Given the description of an element on the screen output the (x, y) to click on. 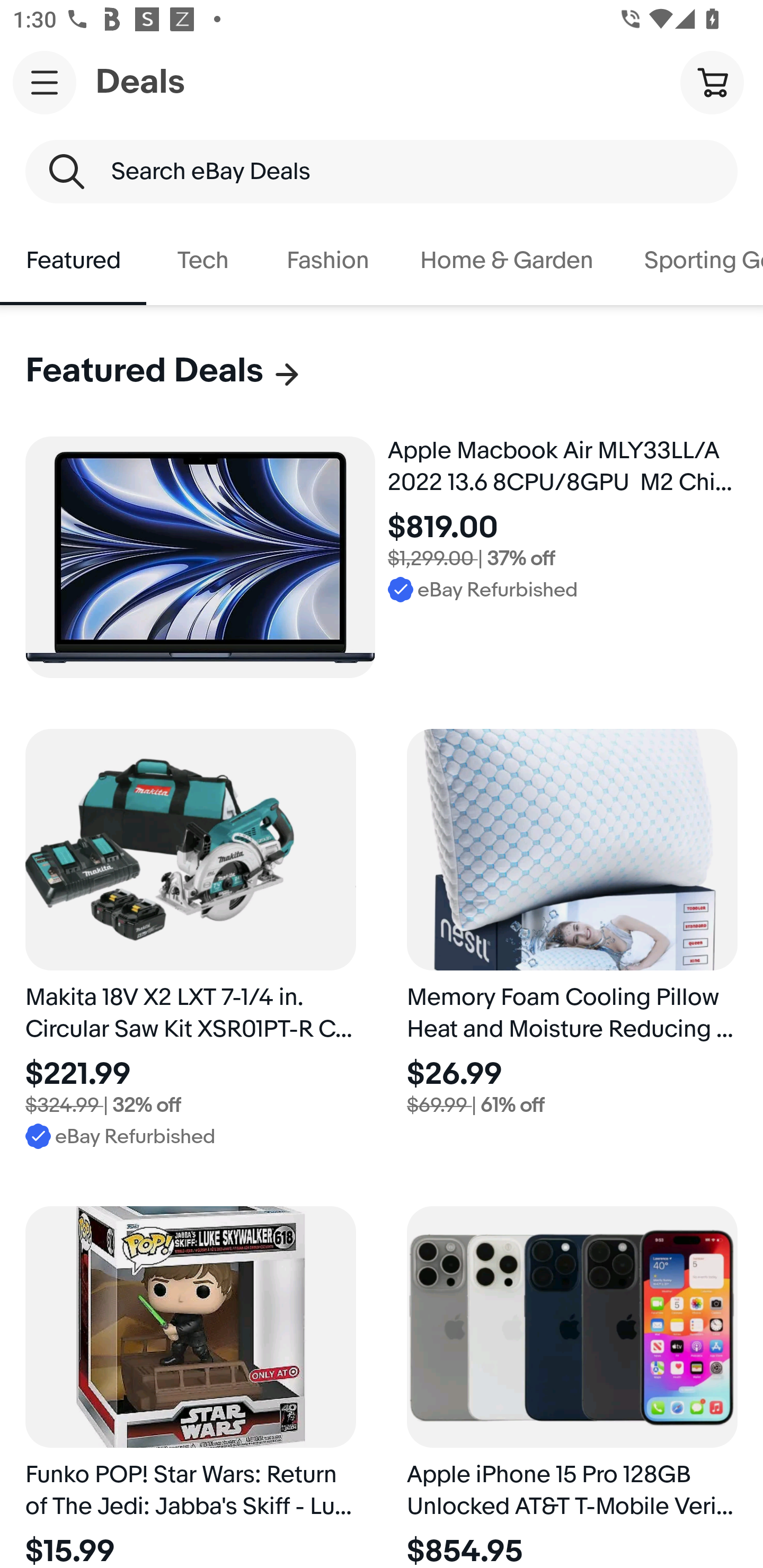
Main navigation, open (44, 82)
Cart button shopping cart (711, 81)
Search eBay Deals Search Keyword Search eBay Deals (381, 171)
Tech. Button. 2 of 7. Tech (203, 260)
Fashion. Button. 3 of 7. Fashion (327, 260)
Home & Garden. Button. 4 of 7. Home & Garden (506, 260)
Featured Deals   Featured Deals,7 items (163, 370)
